Given the description of an element on the screen output the (x, y) to click on. 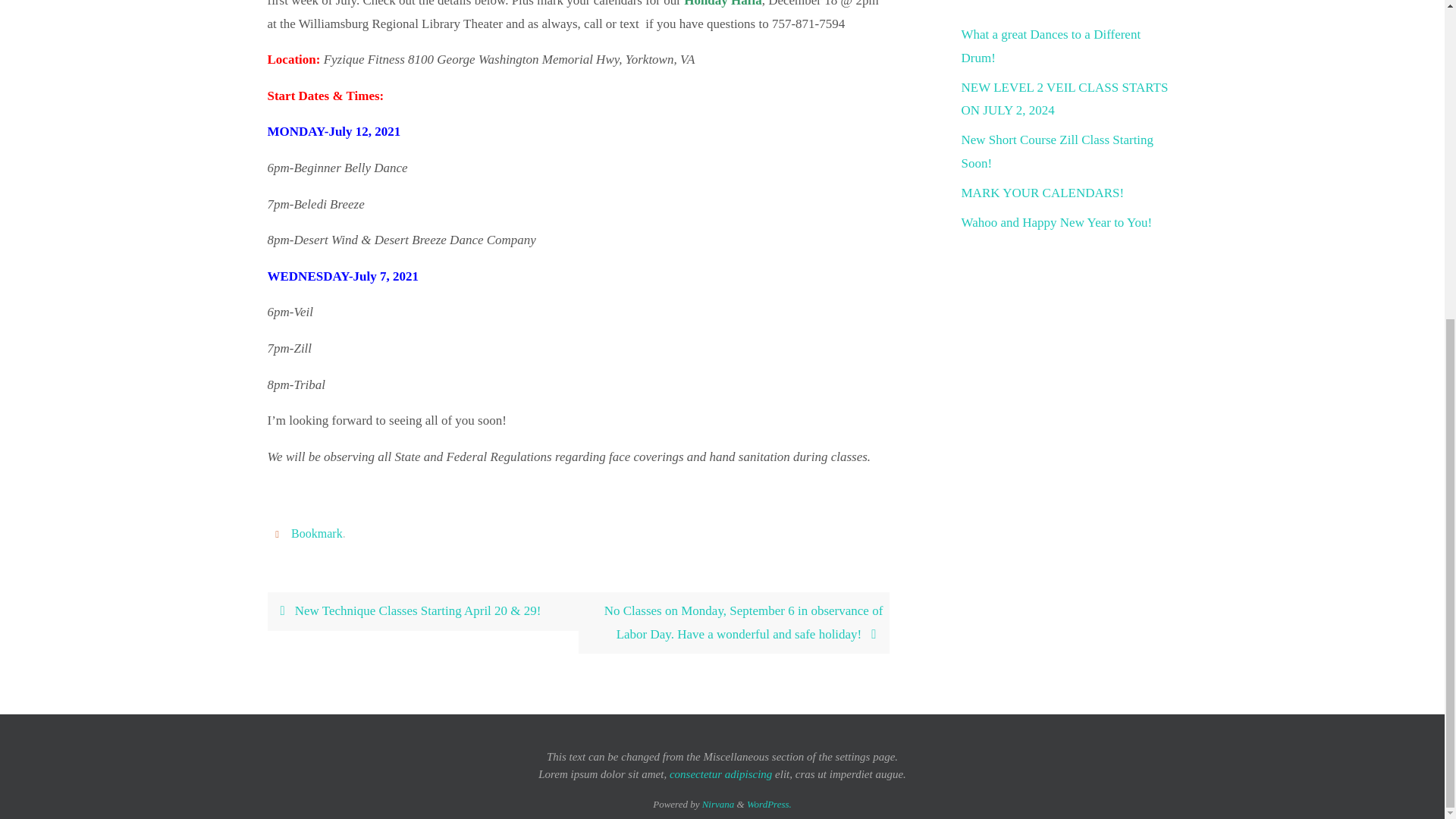
NEW LEVEL 2 VEIL CLASS STARTS ON JULY 2, 2024 (1064, 99)
consectetur adipiscing (720, 774)
New Short Course Zill Class Starting Soon! (1057, 151)
WordPress. (769, 803)
MARK YOUR CALENDARS! (1042, 192)
What a great Dances to a Different Drum! (1050, 46)
Bookmark (316, 533)
 Bookmark the permalink (278, 533)
Nirvana Theme by Cryout Creations (718, 803)
Semantic Personal Publishing Platform (769, 803)
Wahoo and Happy New Year to You! (1056, 222)
Nirvana (718, 803)
